Given the description of an element on the screen output the (x, y) to click on. 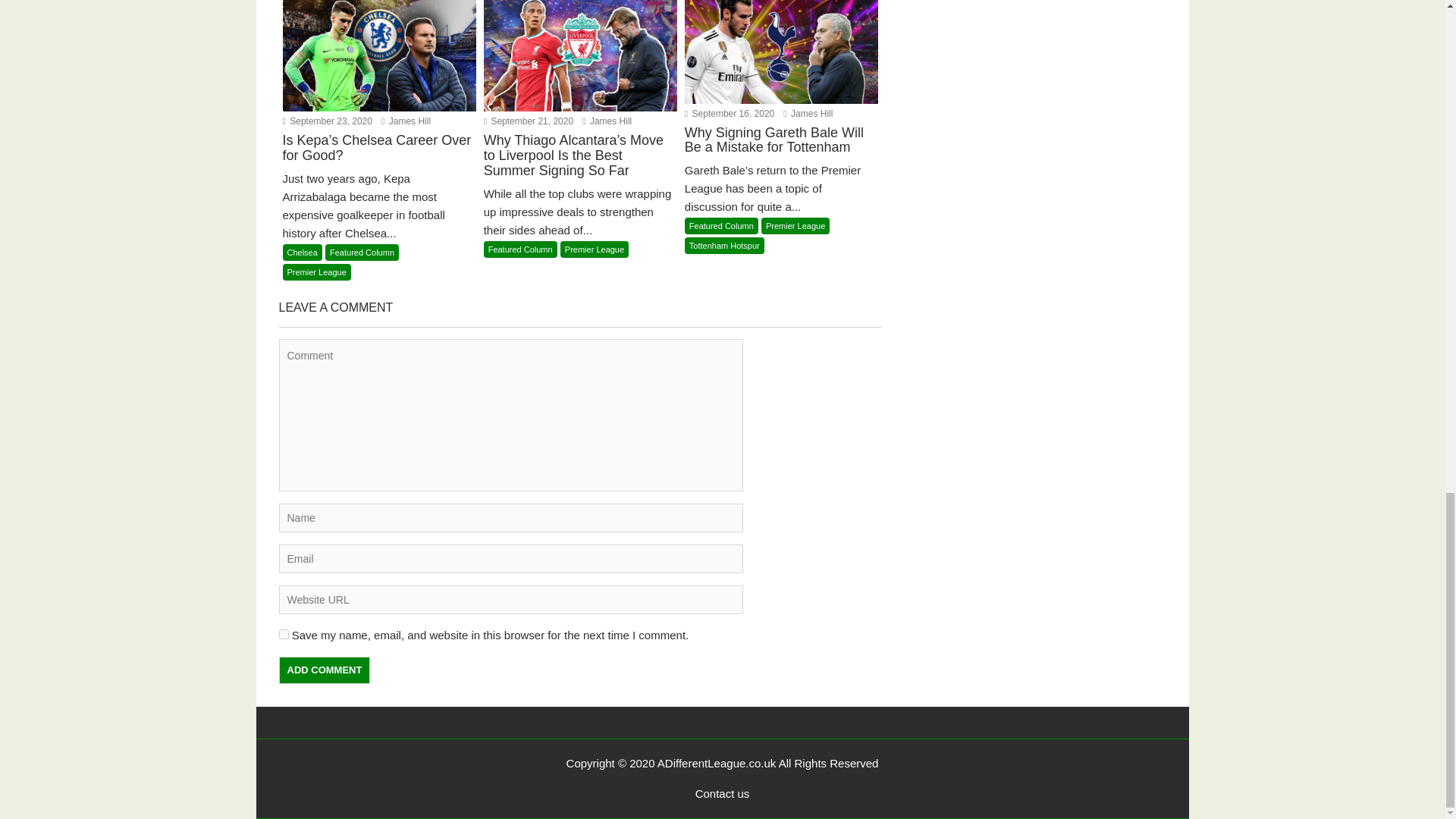
September 16, 2020 (729, 113)
Premier League (795, 225)
James Hill (405, 121)
James Hill (807, 113)
Featured Column (721, 225)
James Hill (606, 121)
Premier League (316, 271)
Add Comment (325, 669)
Chelsea (301, 252)
September 23, 2020 (326, 121)
